Given the description of an element on the screen output the (x, y) to click on. 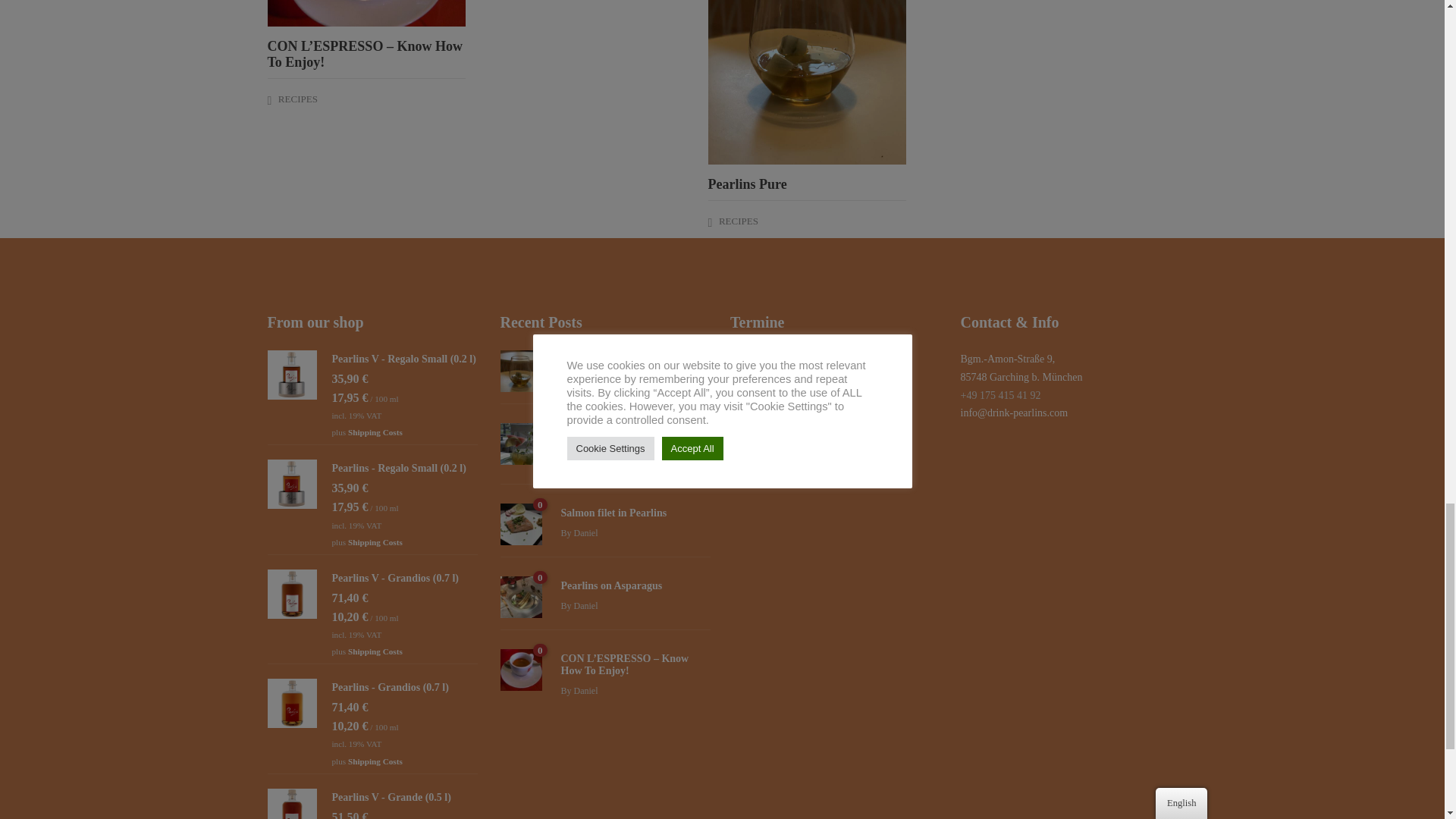
RECIPES (297, 98)
